Given the description of an element on the screen output the (x, y) to click on. 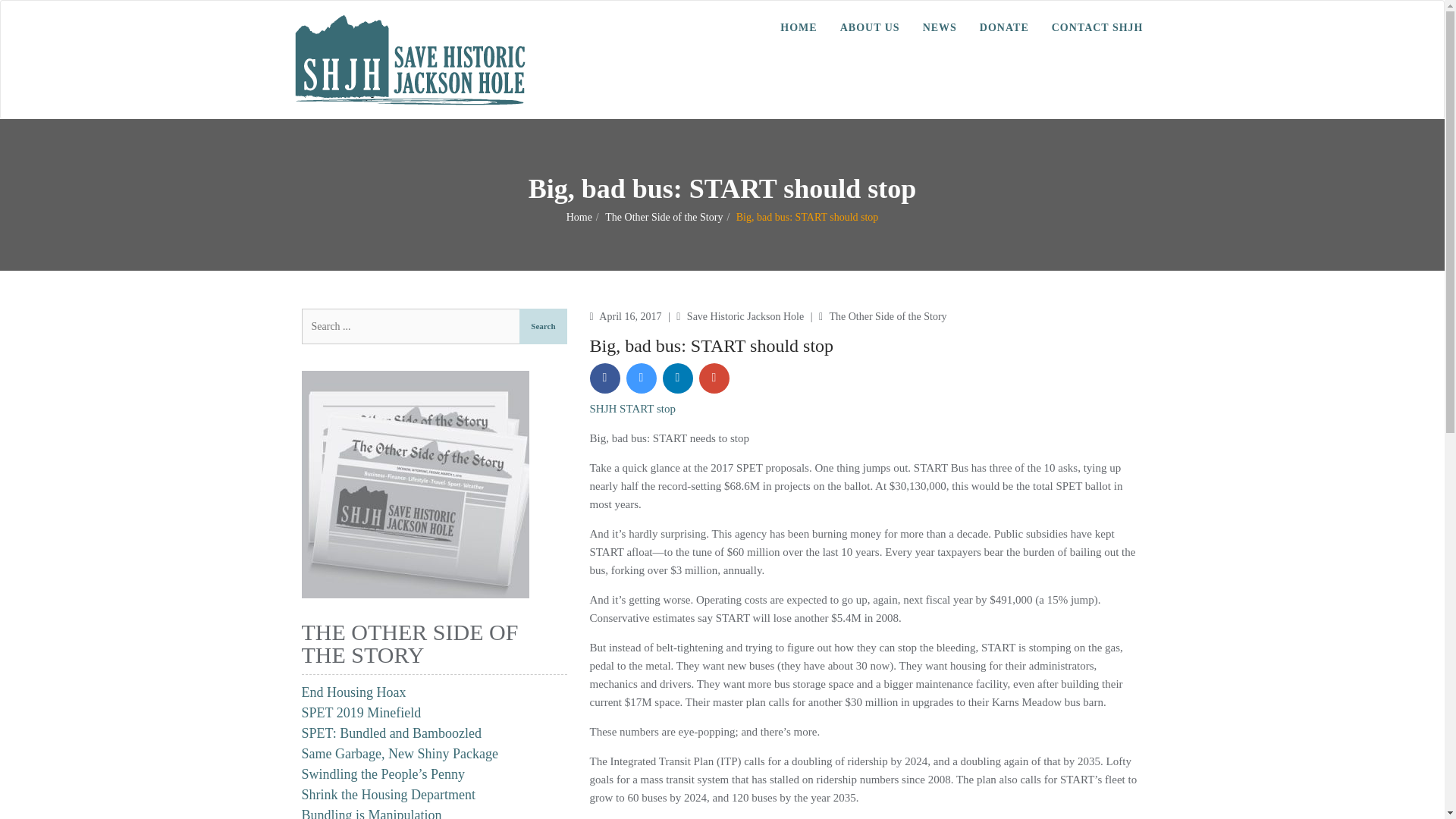
ABOUT US (869, 27)
CONTACT SHJH (1097, 27)
The Other Side of the Story (663, 216)
April 16, 2017 (630, 316)
Search (542, 325)
HOME (798, 27)
Search (542, 325)
NEWS (939, 27)
Bundling is Manipulation (371, 813)
SHJH START stop (632, 408)
SPET: Bundled and Bamboozled (391, 733)
Save Historic Jackson Hole (746, 316)
End Housing Hoax (353, 692)
Same Garbage, New Shiny Package (399, 753)
Shrink the Housing Department (388, 794)
